Given the description of an element on the screen output the (x, y) to click on. 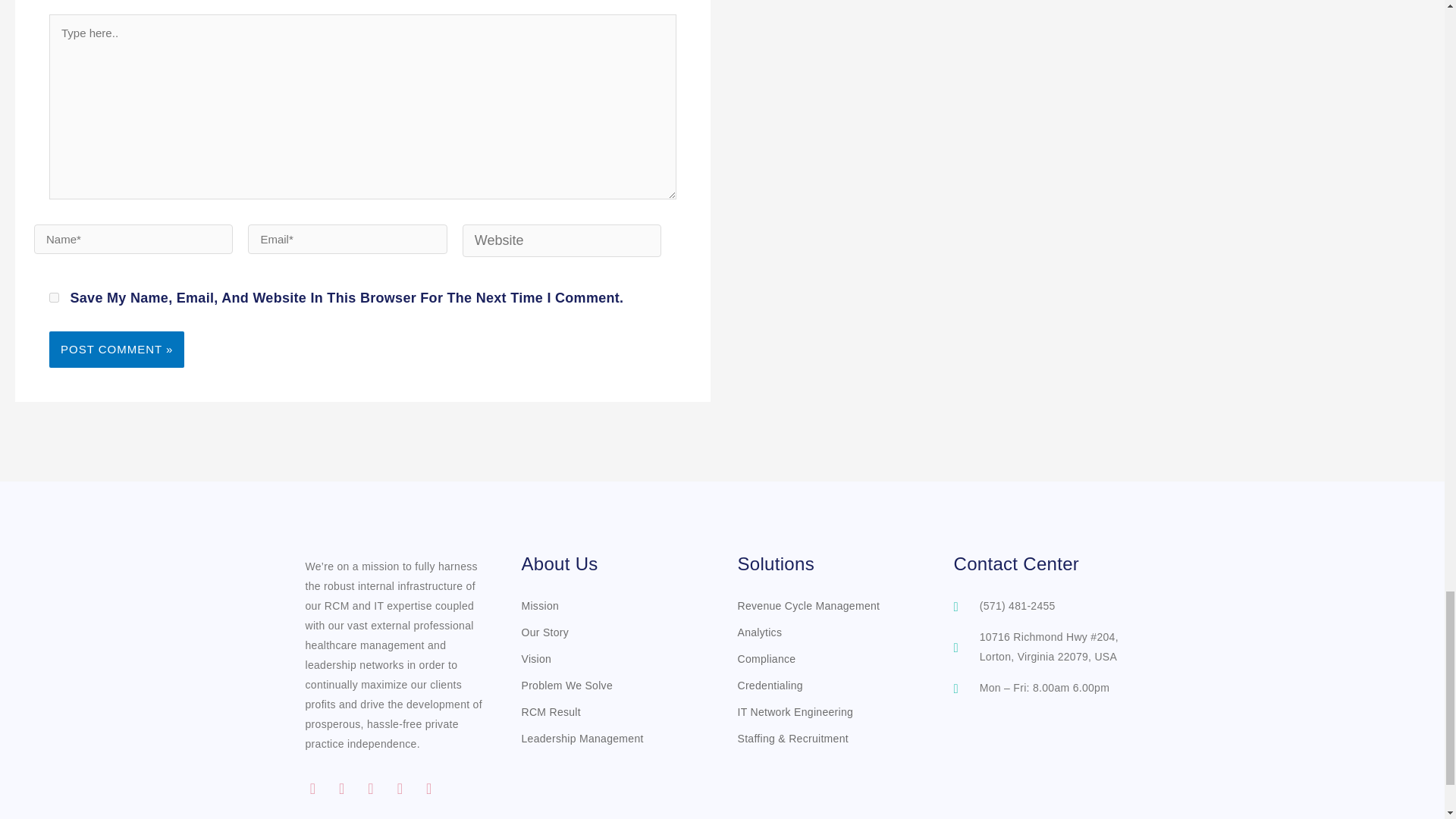
yes (54, 297)
